Given the description of an element on the screen output the (x, y) to click on. 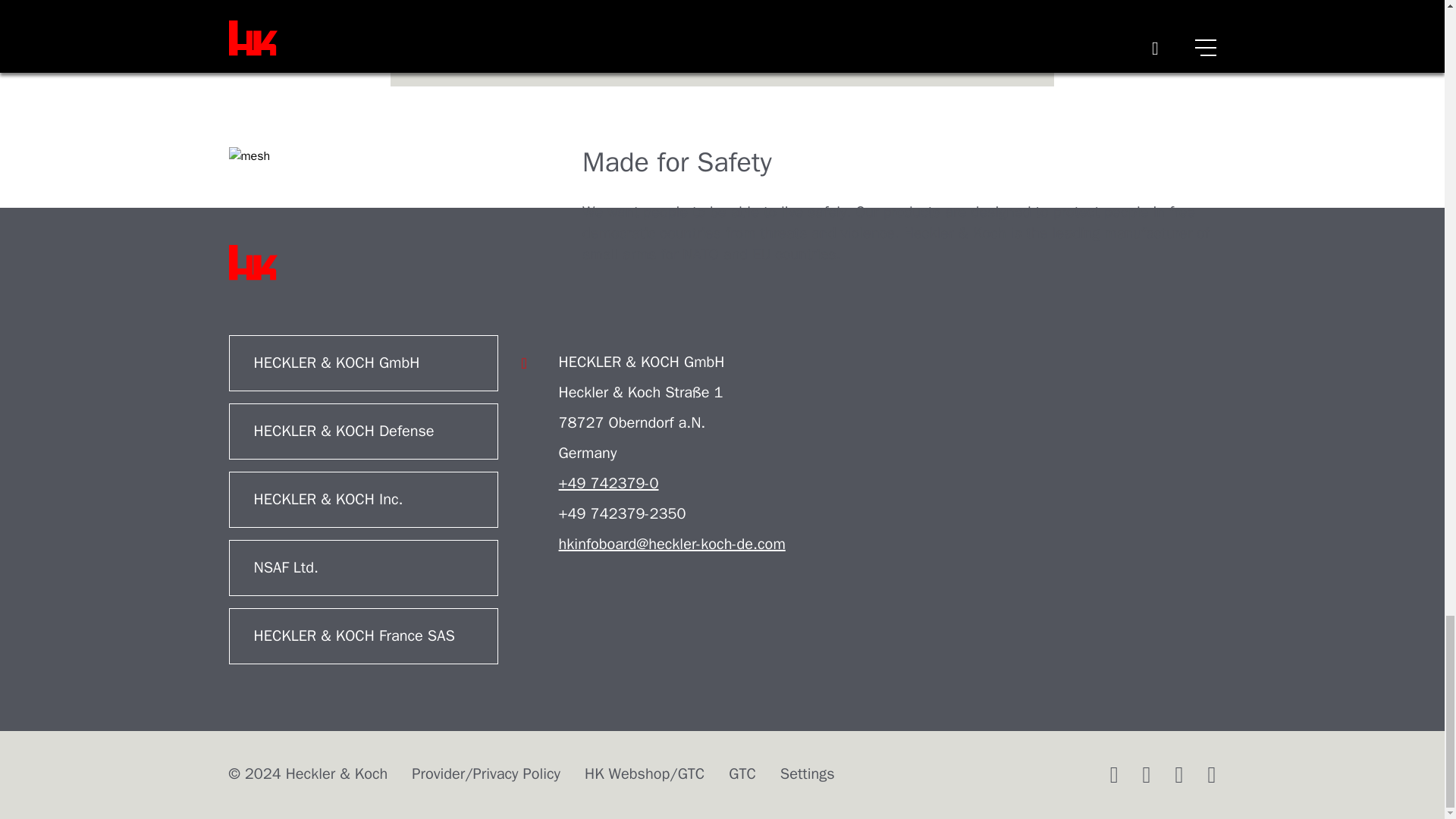
Settings (807, 774)
NSAF Ltd. (362, 567)
GTC (742, 774)
